Given the description of an element on the screen output the (x, y) to click on. 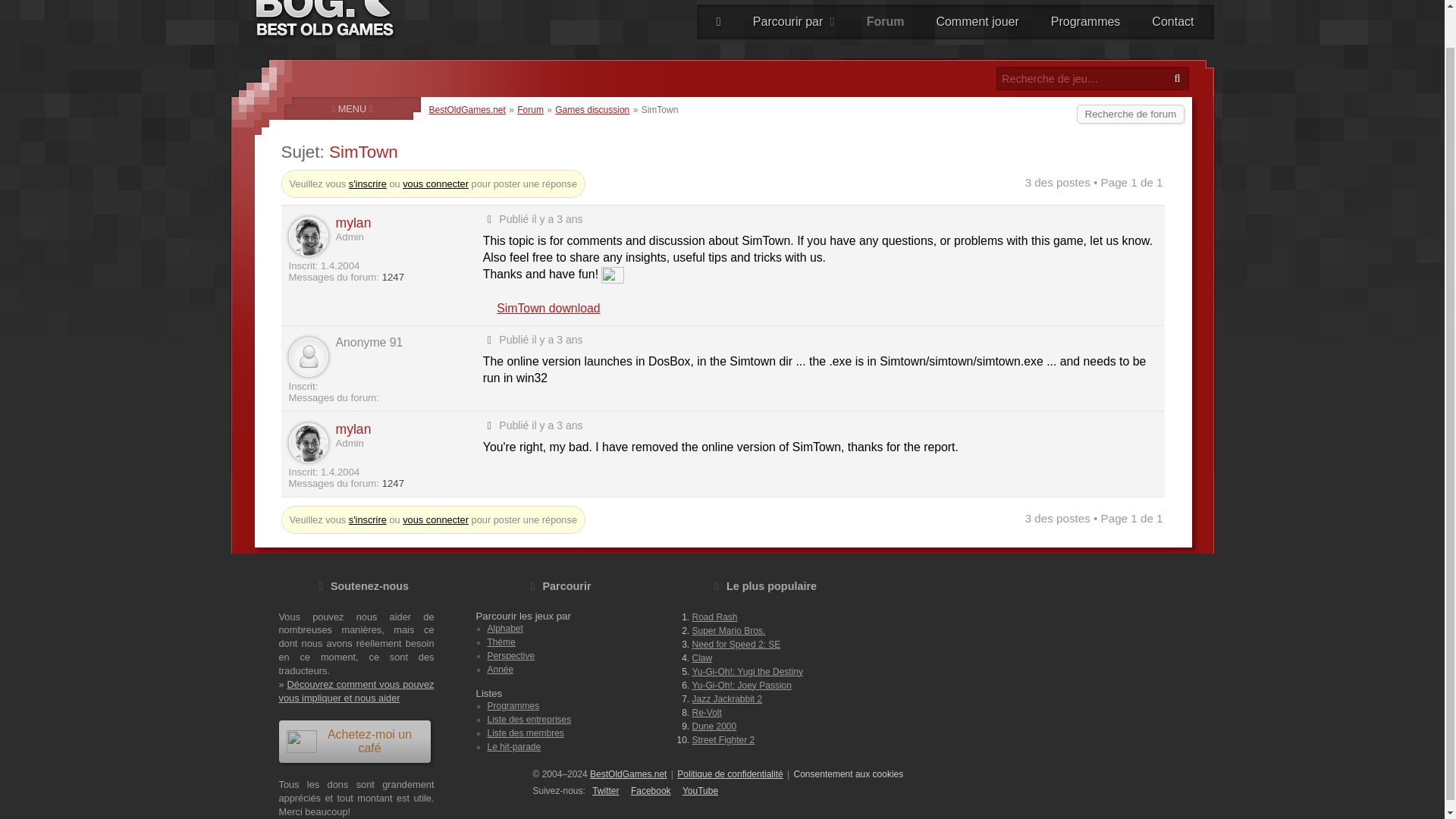
Games discussion (592, 109)
vous connecter (435, 518)
1247 (392, 276)
Contact (1172, 21)
Vieux (489, 218)
22. Janvier 2021 23:22:22 (556, 218)
Forum (530, 109)
Vieux (489, 424)
Comment jouer (976, 21)
14. Mars 2021 22:01:26 (556, 338)
s'inscrire (368, 518)
Programmes (1085, 21)
mylan (352, 222)
SimTown download (547, 308)
Maison (718, 21)
